Given the description of an element on the screen output the (x, y) to click on. 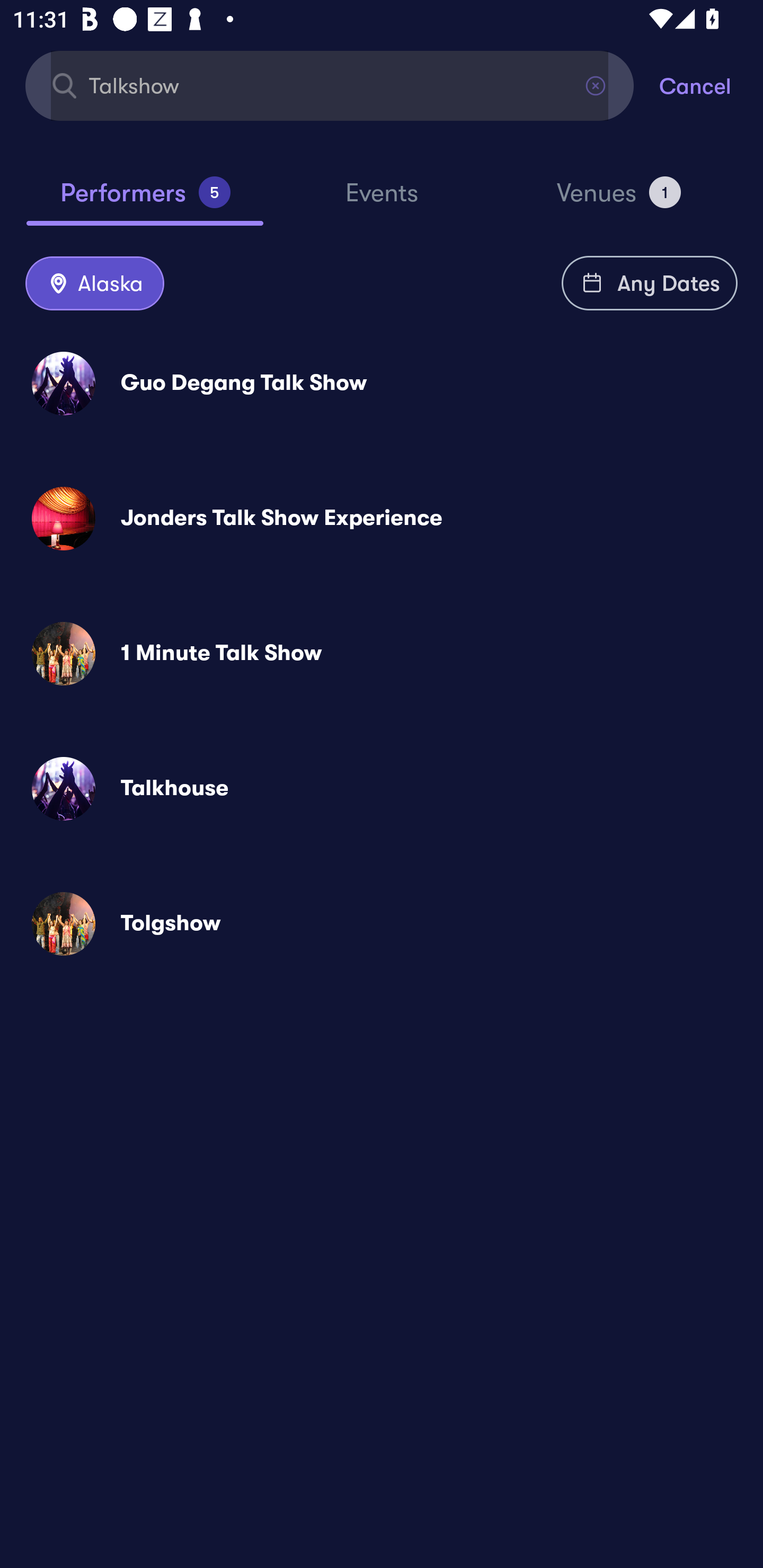
Talkshow Find (329, 85)
Talkshow Find (329, 85)
Cancel (711, 85)
Performers 5 (144, 200)
Venues 1 (618, 200)
Events (381, 201)
Any Dates (649, 282)
Alaska (94, 283)
Guo Degang Talk Show (381, 383)
Jonders Talk Show Experience (381, 518)
1 Minute Talk Show (381, 652)
Talkhouse (381, 788)
Tolgshow (381, 924)
